Given the description of an element on the screen output the (x, y) to click on. 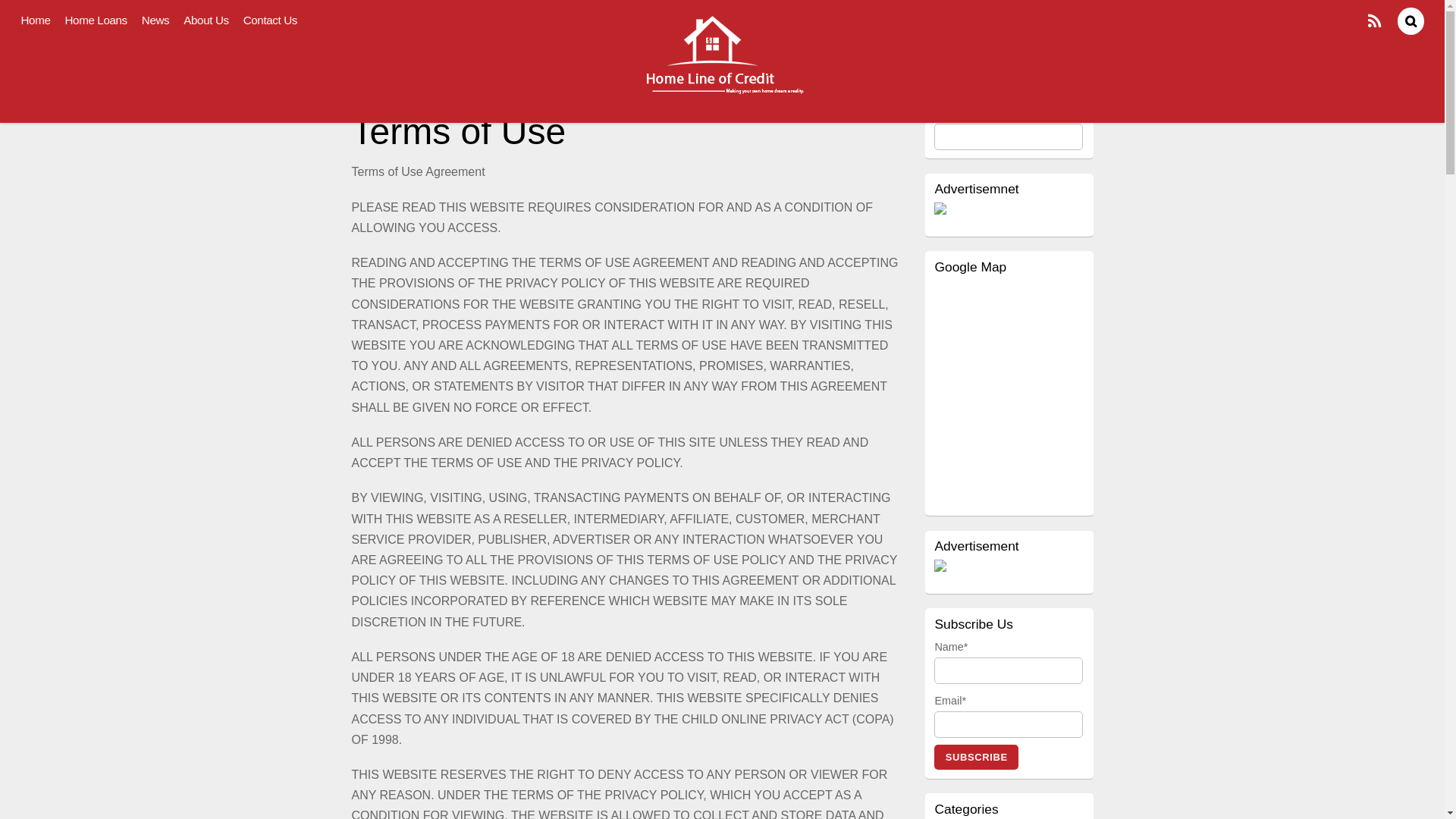
Home Line of Credit Element type: hover (722, 97)
News Element type: text (154, 20)
Search Element type: hover (1008, 136)
Home Line of Credit Element type: hover (722, 55)
Contact Us Element type: text (269, 20)
Home Element type: text (35, 20)
Subscribe Element type: text (976, 756)
Home Loans Element type: text (95, 20)
About Us Element type: text (205, 20)
